Given the description of an element on the screen output the (x, y) to click on. 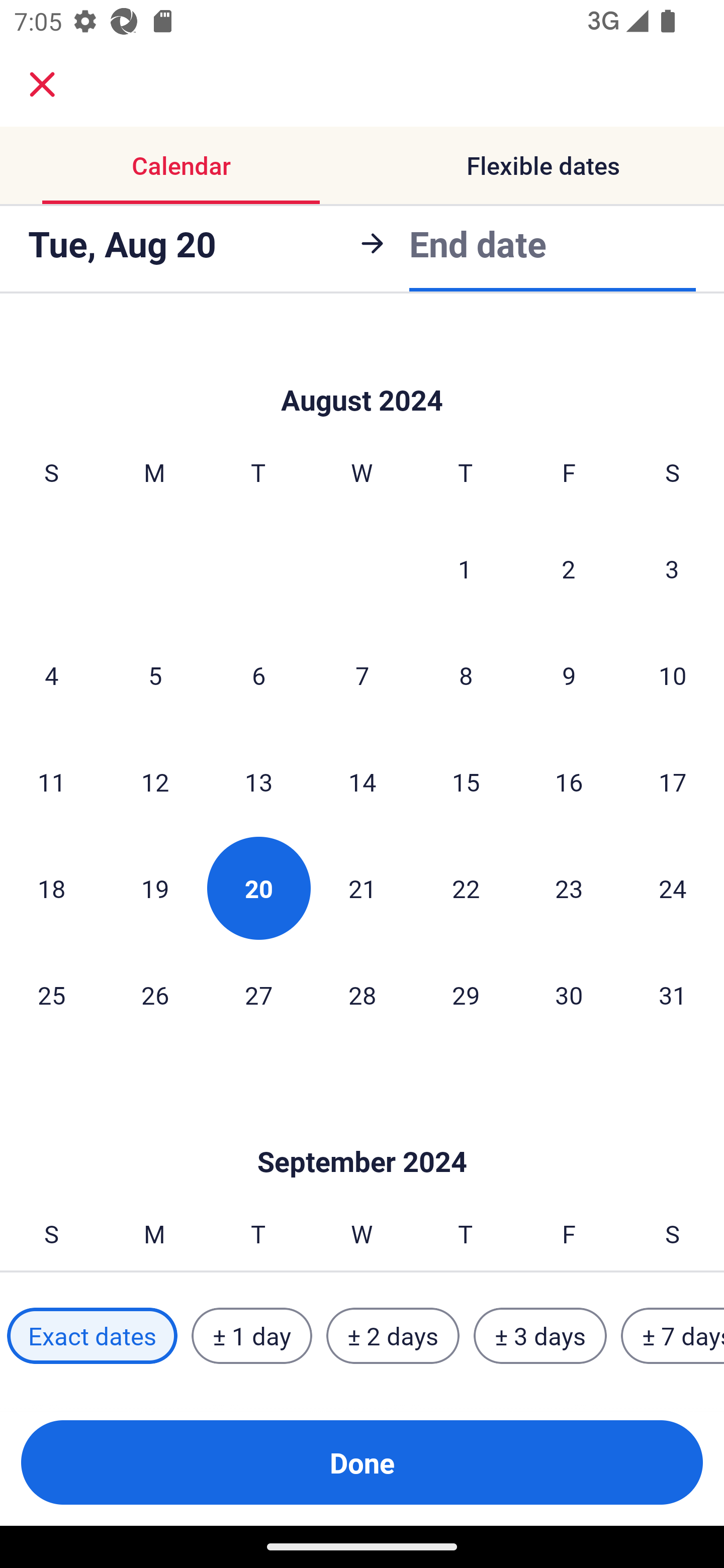
close. (42, 84)
Flexible dates (542, 164)
End date (477, 243)
Skip to Done (362, 369)
1 Thursday, August 1, 2024 (464, 568)
2 Friday, August 2, 2024 (568, 568)
3 Saturday, August 3, 2024 (672, 568)
4 Sunday, August 4, 2024 (51, 674)
5 Monday, August 5, 2024 (155, 674)
6 Tuesday, August 6, 2024 (258, 674)
7 Wednesday, August 7, 2024 (362, 674)
8 Thursday, August 8, 2024 (465, 674)
9 Friday, August 9, 2024 (569, 674)
10 Saturday, August 10, 2024 (672, 674)
11 Sunday, August 11, 2024 (51, 781)
12 Monday, August 12, 2024 (155, 781)
13 Tuesday, August 13, 2024 (258, 781)
14 Wednesday, August 14, 2024 (362, 781)
15 Thursday, August 15, 2024 (465, 781)
16 Friday, August 16, 2024 (569, 781)
17 Saturday, August 17, 2024 (672, 781)
18 Sunday, August 18, 2024 (51, 888)
19 Monday, August 19, 2024 (155, 888)
21 Wednesday, August 21, 2024 (362, 888)
22 Thursday, August 22, 2024 (465, 888)
23 Friday, August 23, 2024 (569, 888)
24 Saturday, August 24, 2024 (672, 888)
25 Sunday, August 25, 2024 (51, 994)
26 Monday, August 26, 2024 (155, 994)
27 Tuesday, August 27, 2024 (258, 994)
28 Wednesday, August 28, 2024 (362, 994)
29 Thursday, August 29, 2024 (465, 994)
30 Friday, August 30, 2024 (569, 994)
31 Saturday, August 31, 2024 (672, 994)
Skip to Done (362, 1131)
Exact dates (92, 1335)
± 1 day (251, 1335)
± 2 days (392, 1335)
± 3 days (539, 1335)
± 7 days (672, 1335)
Done (361, 1462)
